Given the description of an element on the screen output the (x, y) to click on. 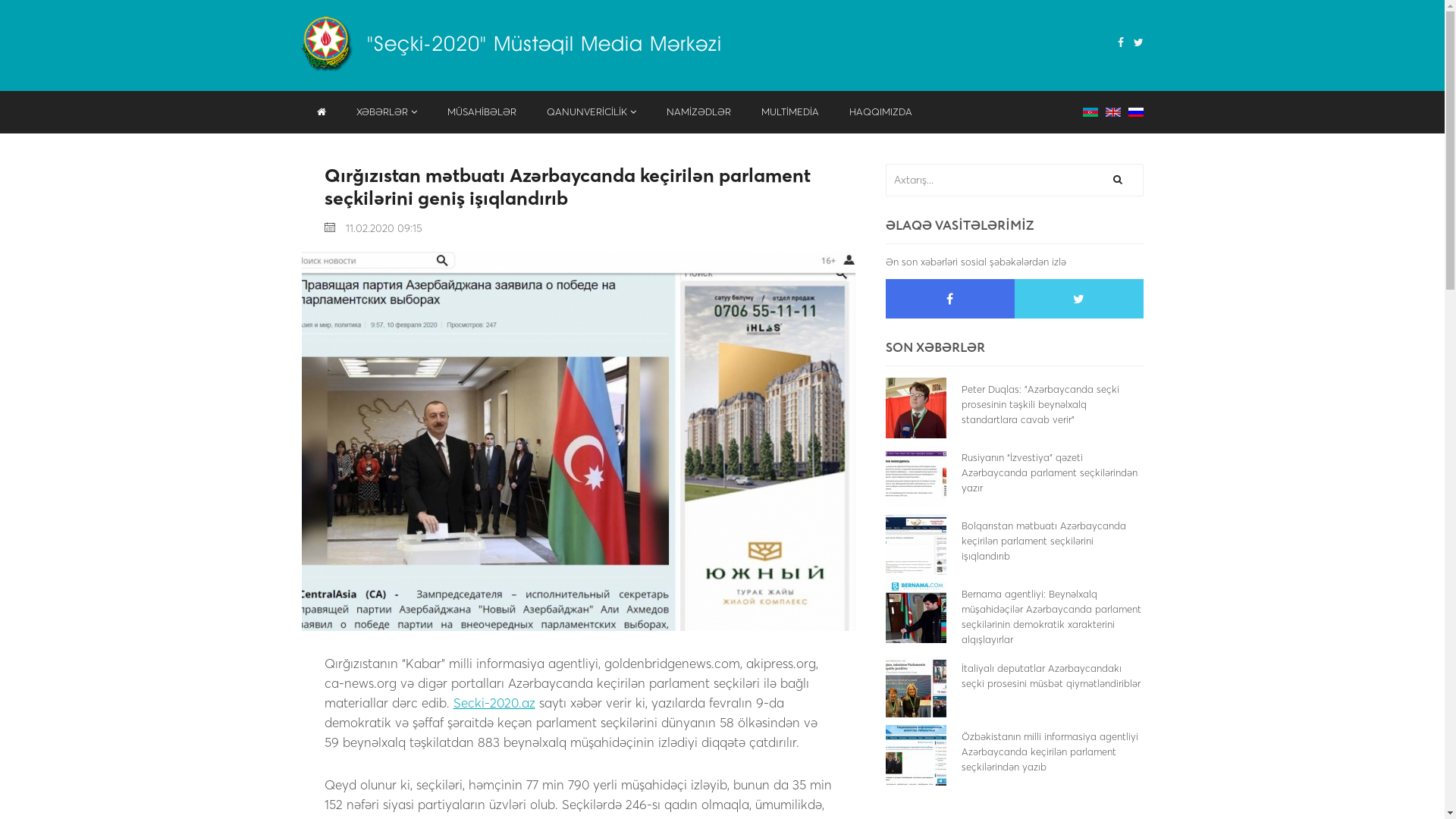
Secki-2020.az Element type: text (494, 702)
English Element type: hover (1112, 111)
HAQQIMIZDA Element type: text (880, 112)
